Given the description of an element on the screen output the (x, y) to click on. 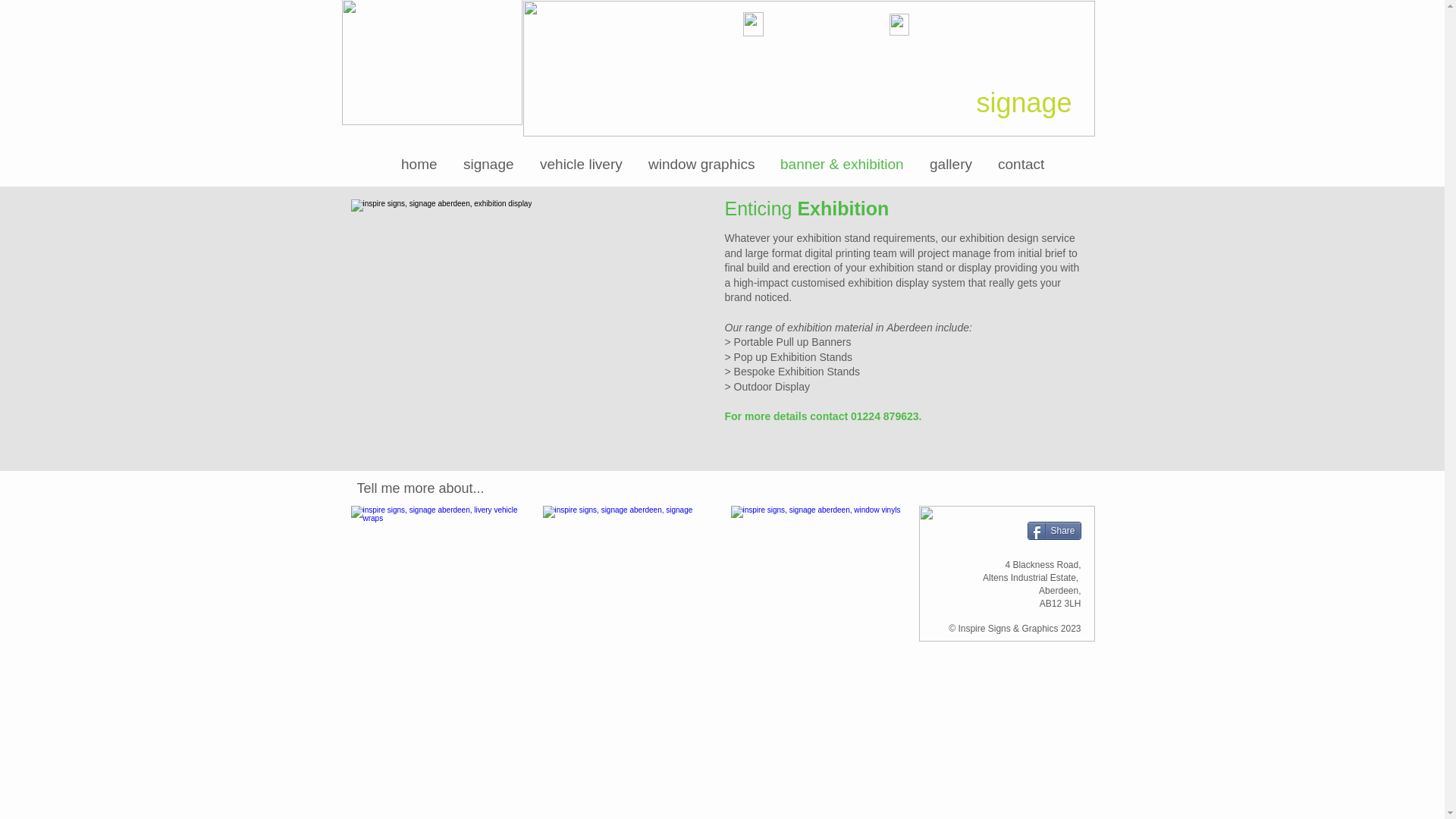
home (418, 163)
window graphics (700, 163)
Share (1053, 530)
Exhibition Display (530, 325)
Window Vinyls (818, 573)
gallery (951, 163)
Share (1053, 530)
Signage  (630, 573)
contact (1021, 163)
vehicle livery (580, 163)
